Given the description of an element on the screen output the (x, y) to click on. 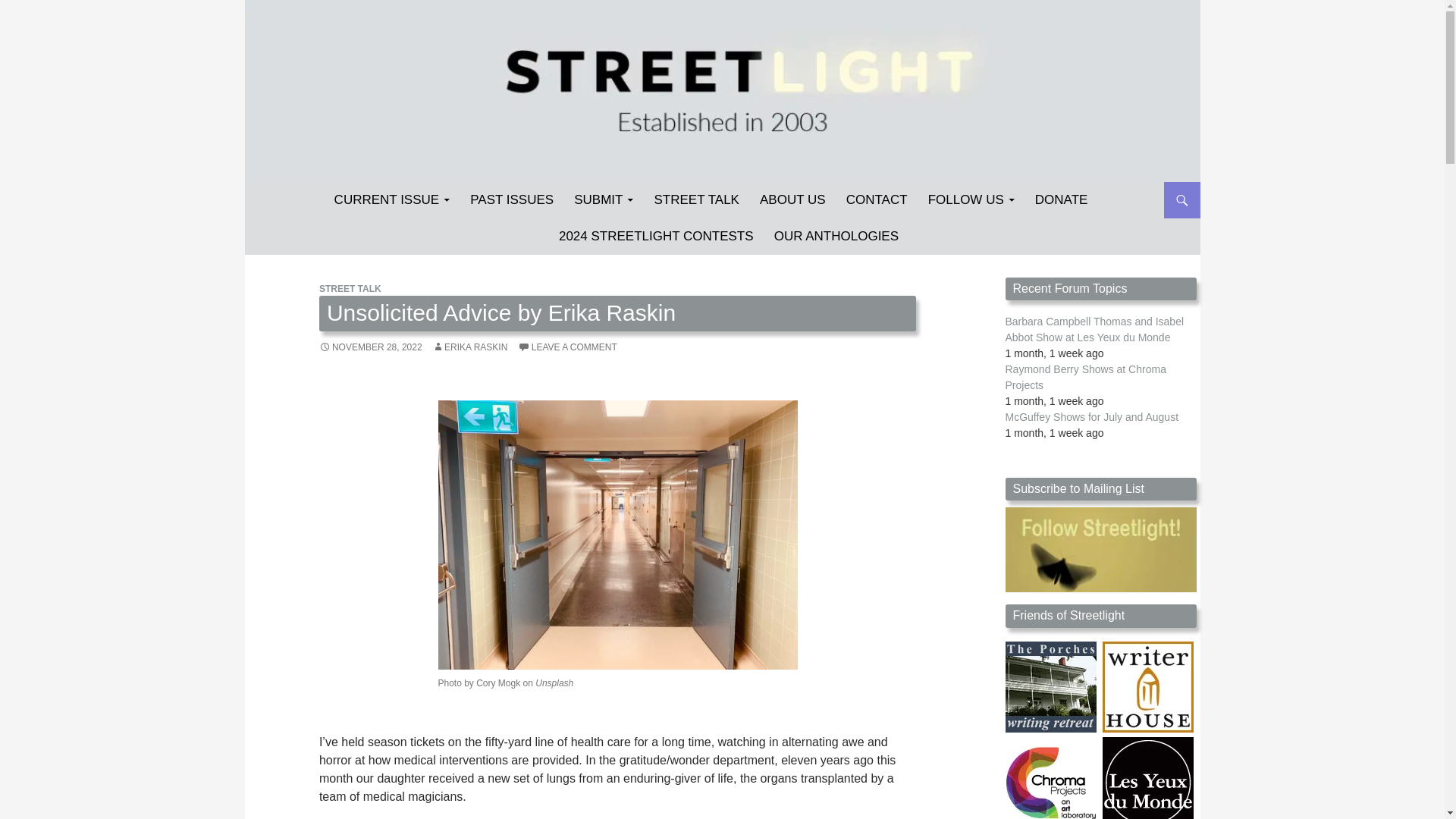
ABOUT US (792, 199)
OUR ANTHOLOGIES (836, 236)
NOVEMBER 28, 2022 (370, 347)
CONTACT (877, 199)
2024 STREETLIGHT CONTESTS (656, 236)
STREET TALK (696, 199)
SUBMIT (603, 199)
ERIKA RASKIN (469, 347)
LEAVE A COMMENT (567, 347)
